Given the description of an element on the screen output the (x, y) to click on. 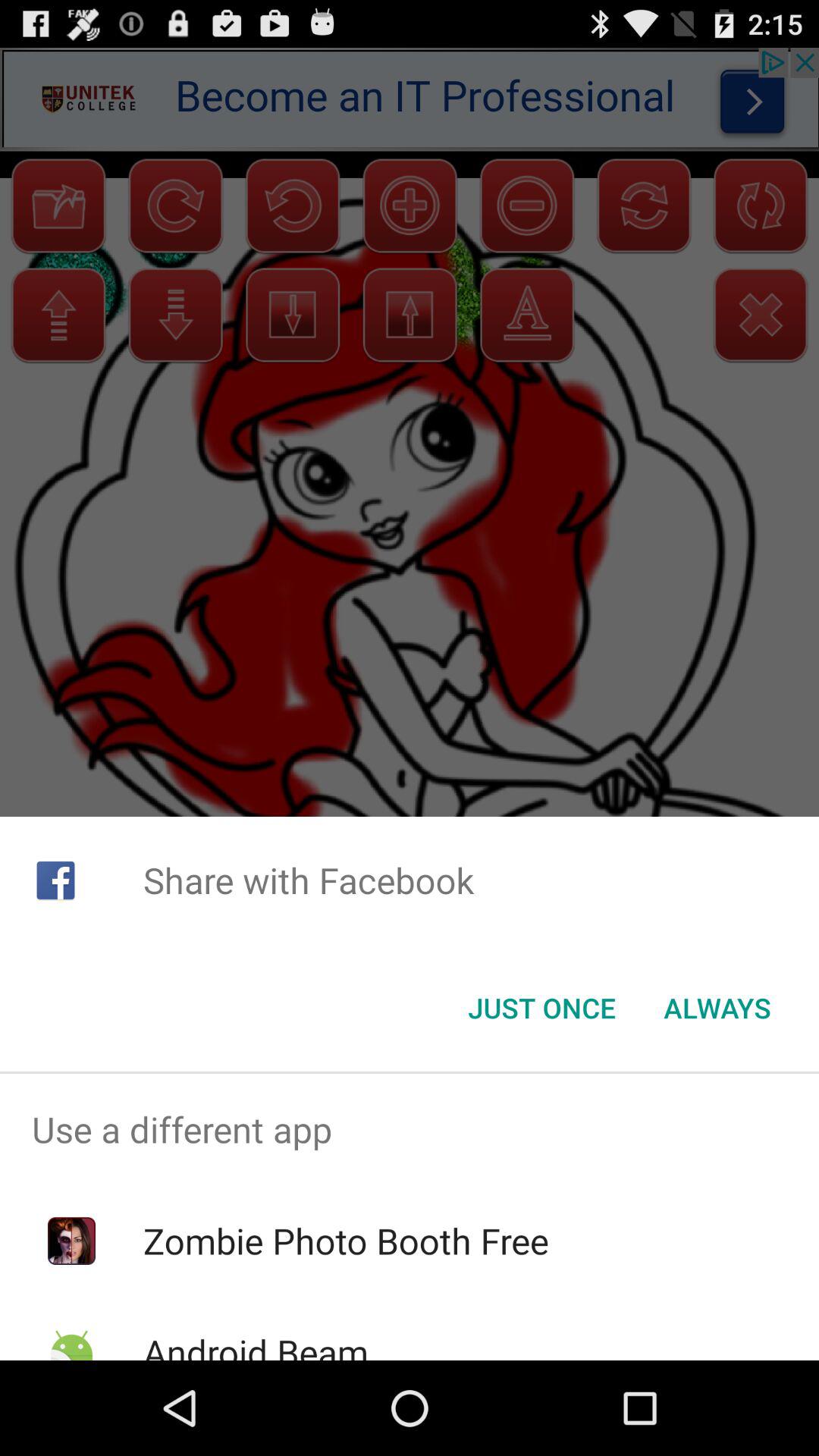
scroll until zombie photo booth icon (345, 1240)
